Given the description of an element on the screen output the (x, y) to click on. 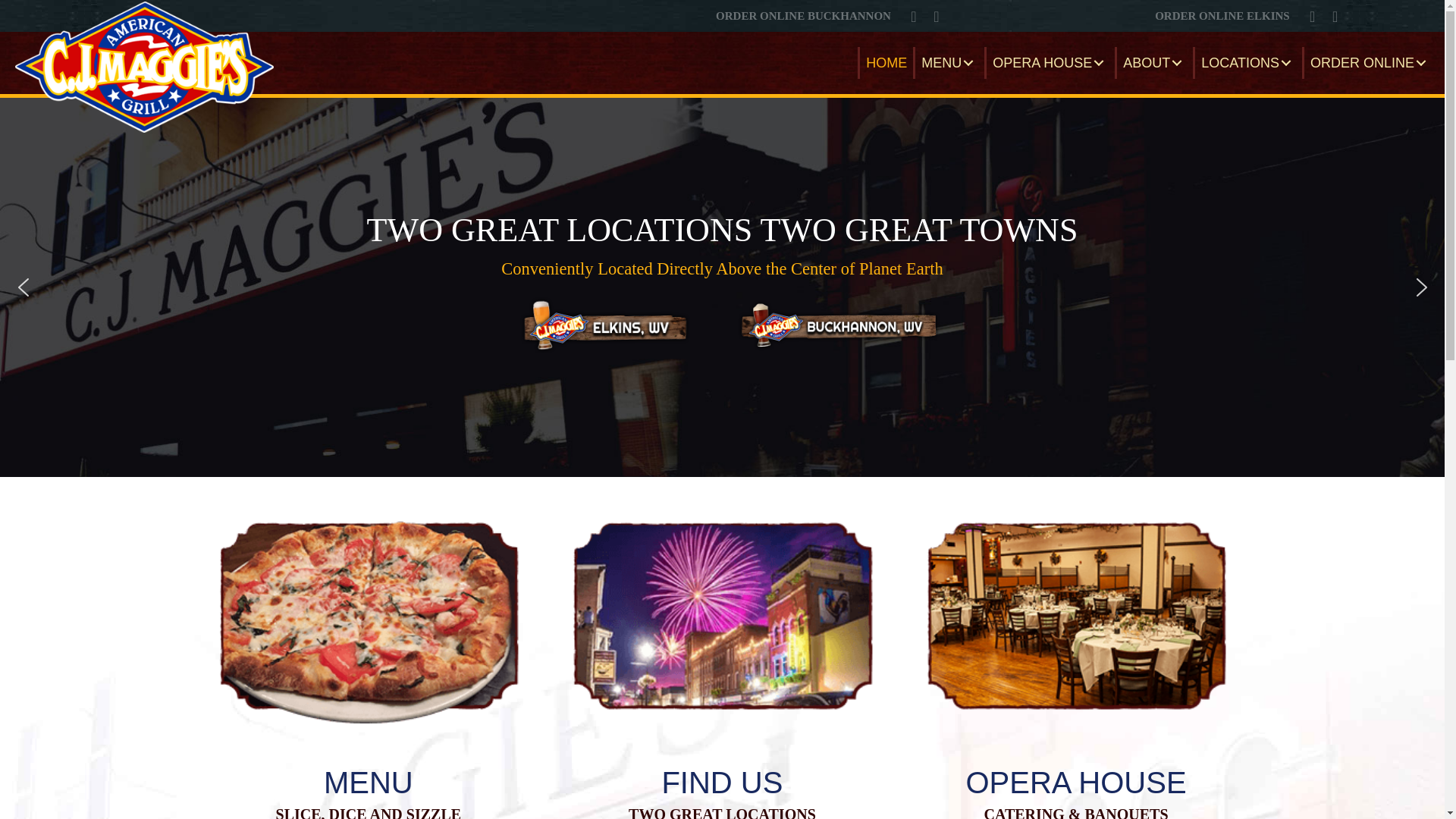
cj-maggies-logo-409x208 (143, 66)
ORDER ONLINE BUCKHANNON (803, 15)
ABOUT (1153, 62)
ORDER ONLINE ELKINS (1222, 15)
find-us-locations (721, 614)
ORDER ONLINE (1369, 62)
pizza-menu-tile-300x200 (367, 614)
ORDER ONLINE ELKINS (1222, 15)
HOME (884, 62)
opera-house-300 (1076, 614)
ORDER ONLINE BUCKHANNON (803, 15)
LOCATIONS (1246, 62)
OPERA HOUSE (1049, 62)
MENU (948, 62)
